Given the description of an element on the screen output the (x, y) to click on. 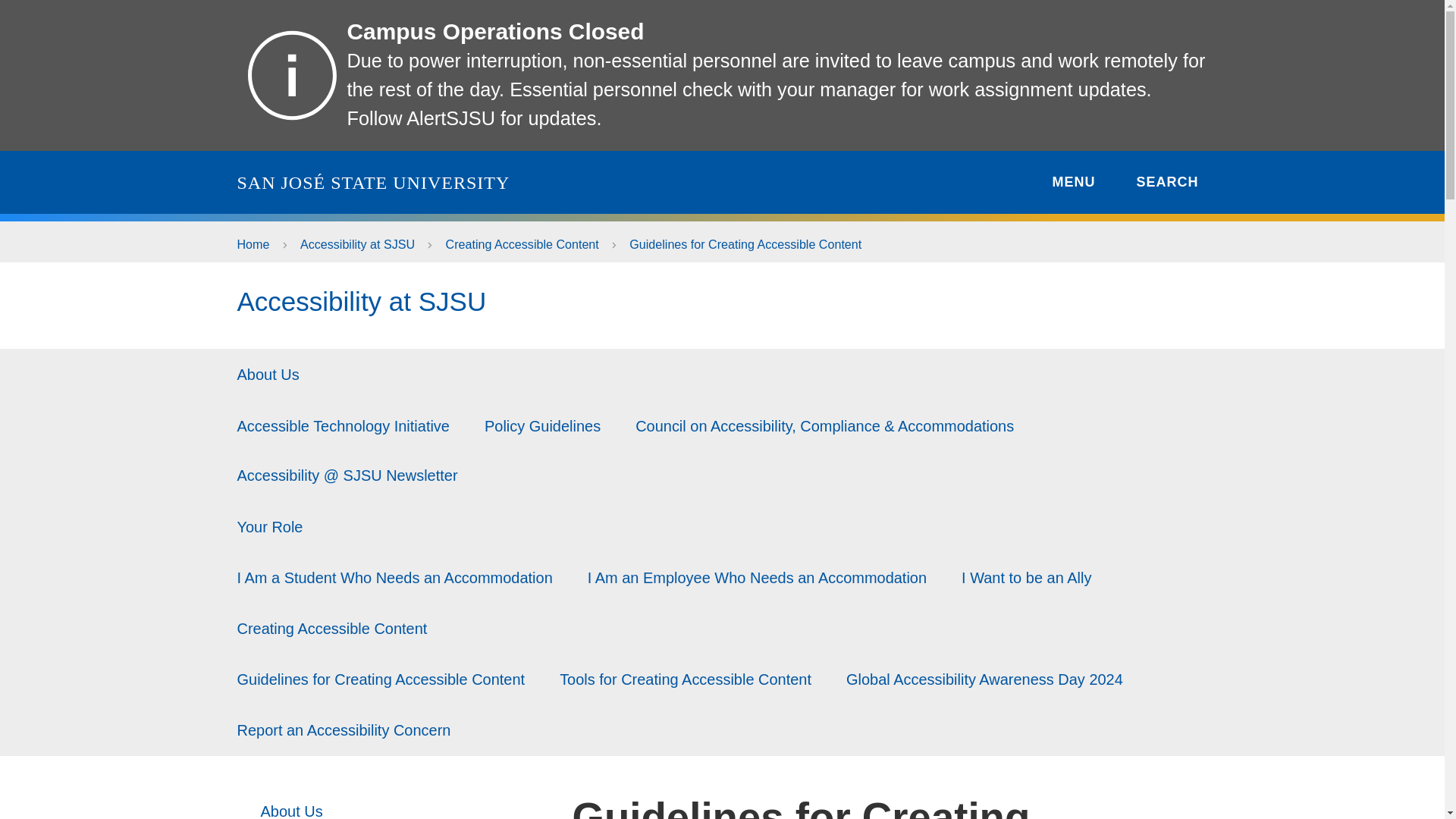
MENU (1061, 181)
